Given the description of an element on the screen output the (x, y) to click on. 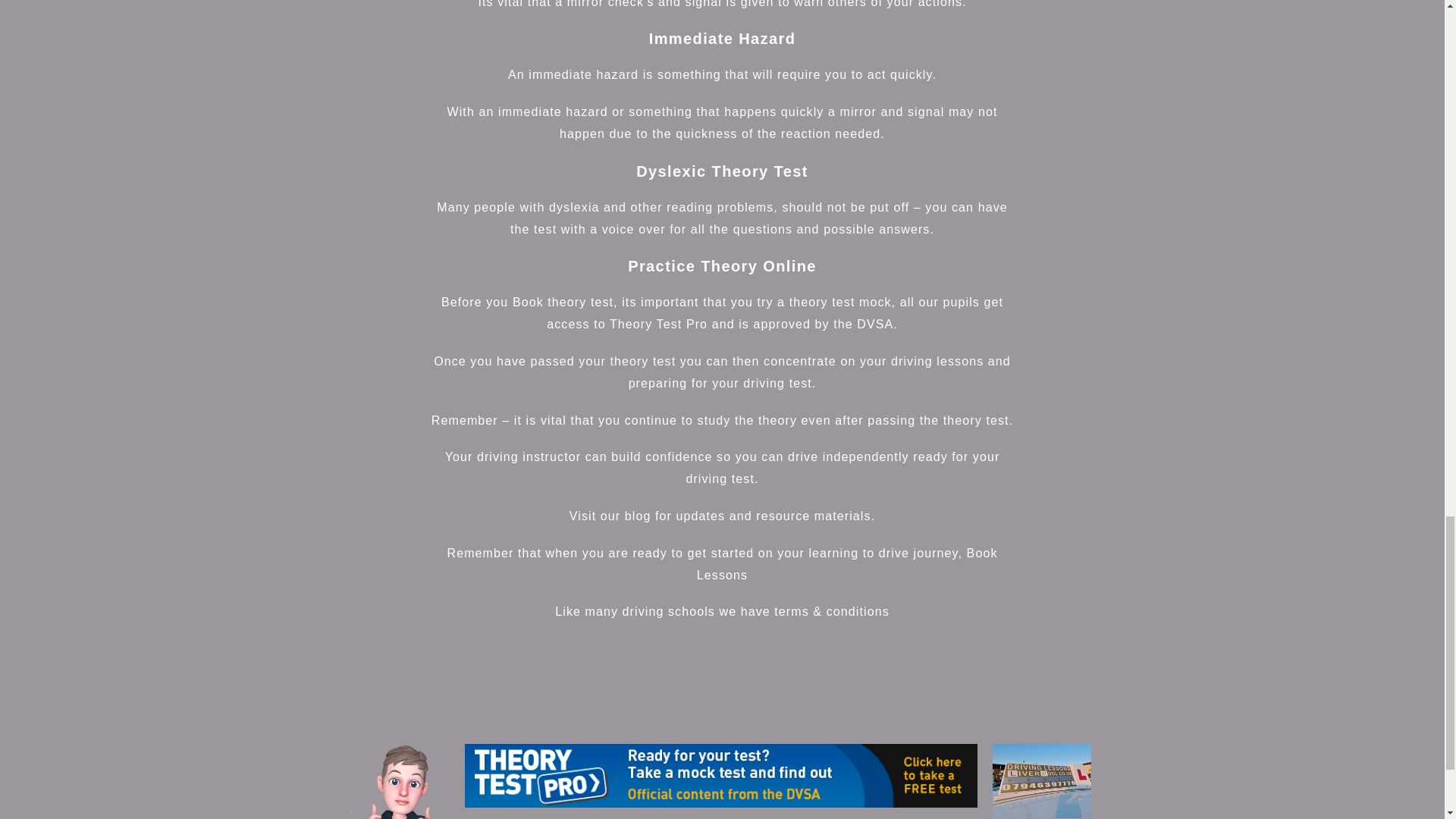
Theory Test Pro: practise your driving theory test online! (720, 775)
Book Lessons (847, 564)
blog (637, 515)
